Given the description of an element on the screen output the (x, y) to click on. 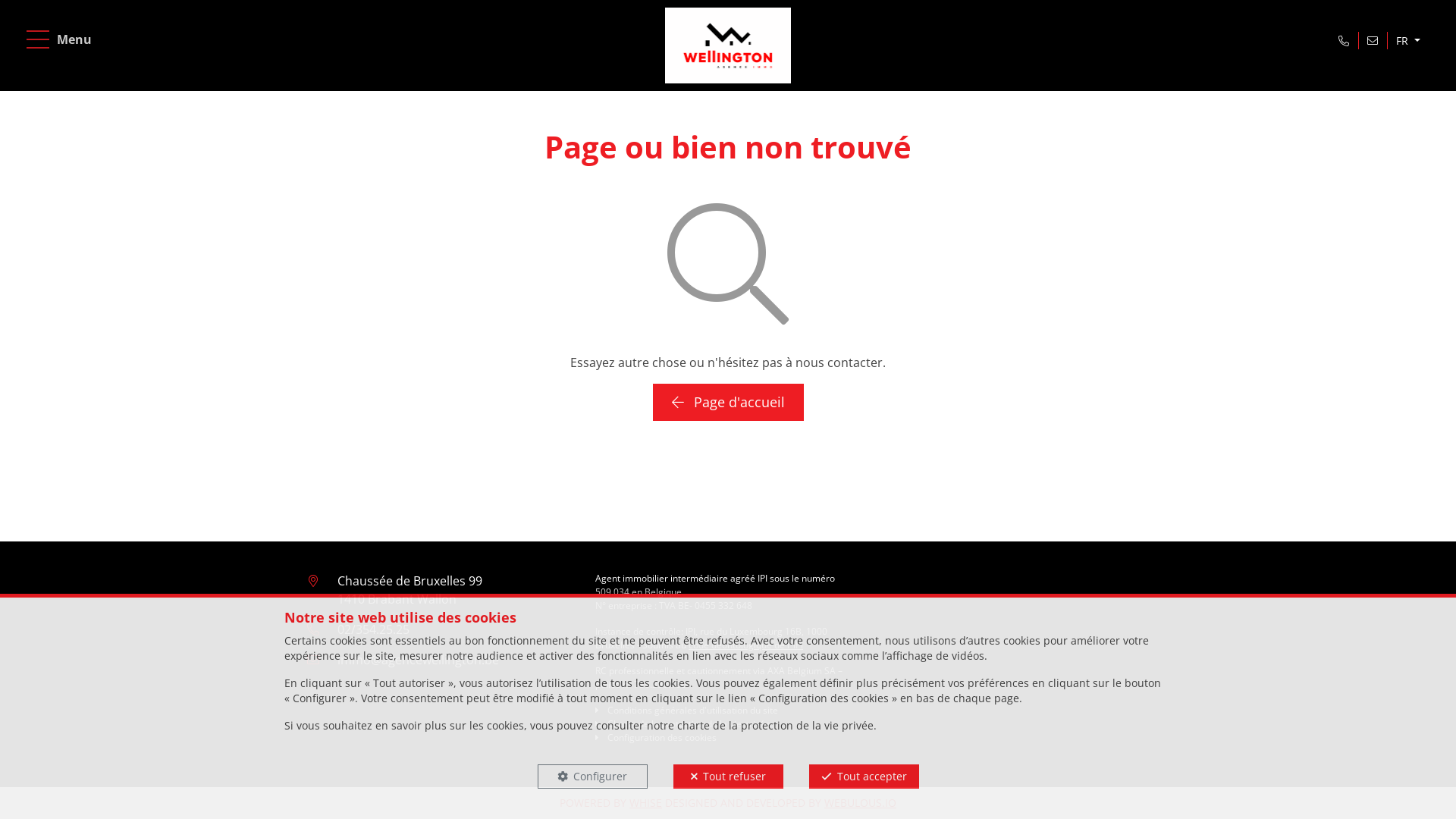
Page d'accueil Element type: text (727, 401)
Configurer Element type: text (591, 776)
POWERED BY WHISE Element type: text (610, 802)
02/354.25.25 Element type: text (373, 629)
Tout accepter Element type: text (863, 776)
FR Element type: text (1408, 40)
Configuration des cookies Element type: text (655, 737)
Tout refuser Element type: text (728, 776)
immo@agencewellington.be Element type: text (417, 659)
DESIGNED AND DEVELOPED BY WEBULOUS.IO Element type: text (780, 802)
